Given the description of an element on the screen output the (x, y) to click on. 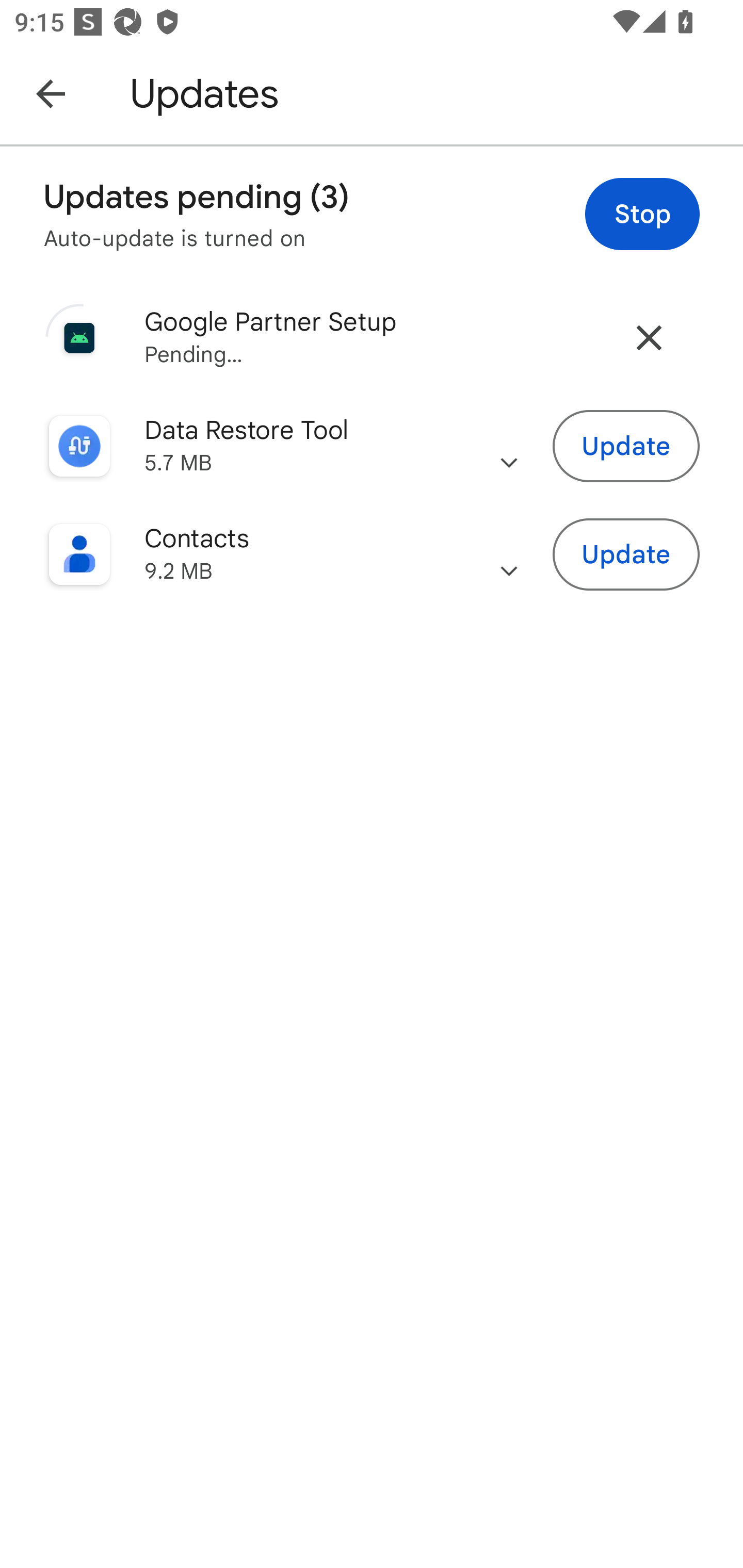
Navigate up (50, 92)
Stop (642, 213)
Cancel (648, 337)
Changes in the app (508, 446)
Update (625, 446)
Changes in the app (508, 554)
Update (625, 555)
